Given the description of an element on the screen output the (x, y) to click on. 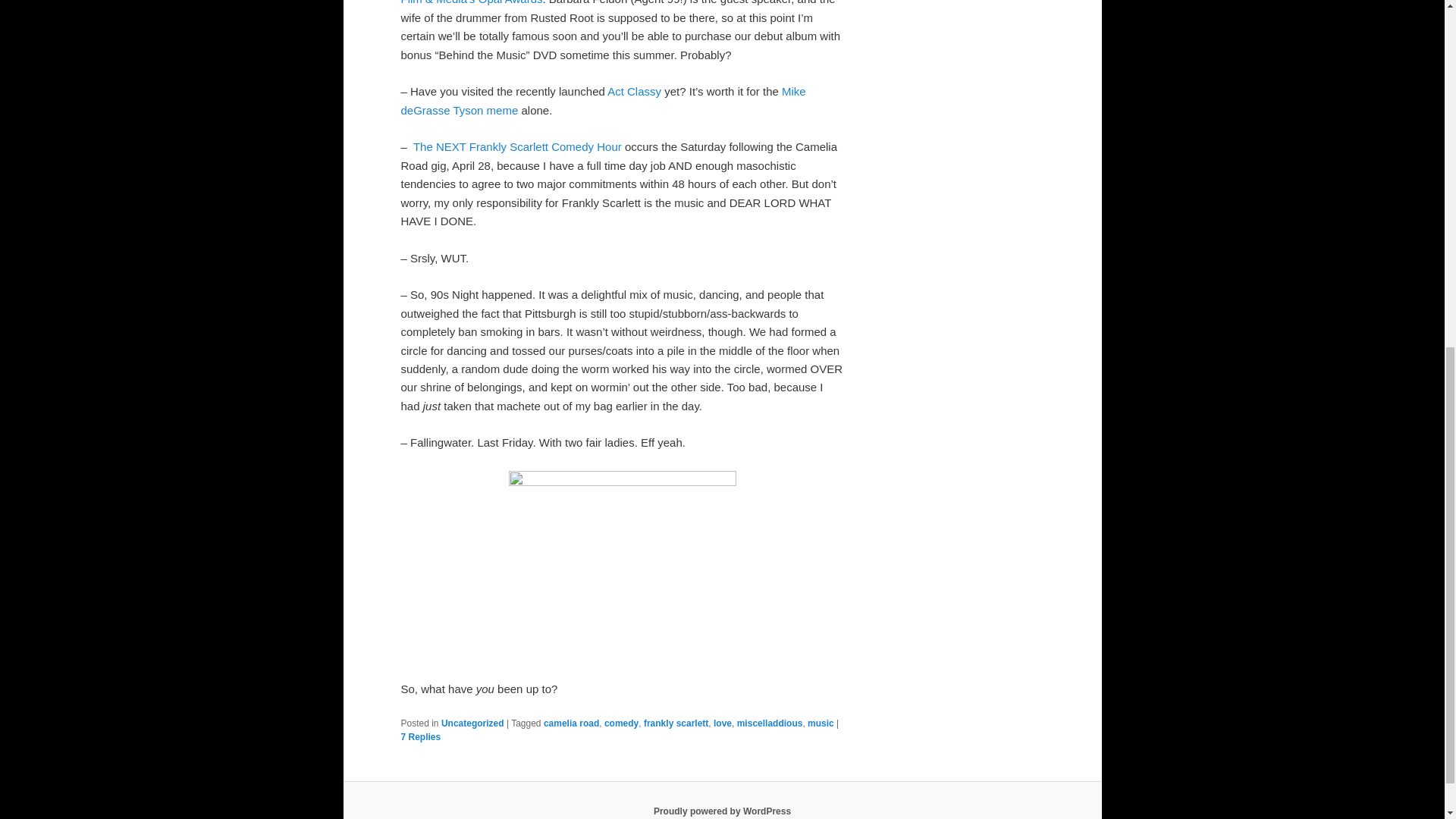
7 Replies (420, 737)
The NEXT Frankly Scarlett Comedy Hour (517, 146)
Mike deGrasse Tyson meme (602, 100)
frankly scarlett (675, 723)
music (821, 723)
miscelladdious (769, 723)
camelia road (570, 723)
Uncategorized (472, 723)
Act Classy (634, 91)
comedy (621, 723)
love (722, 723)
